Given the description of an element on the screen output the (x, y) to click on. 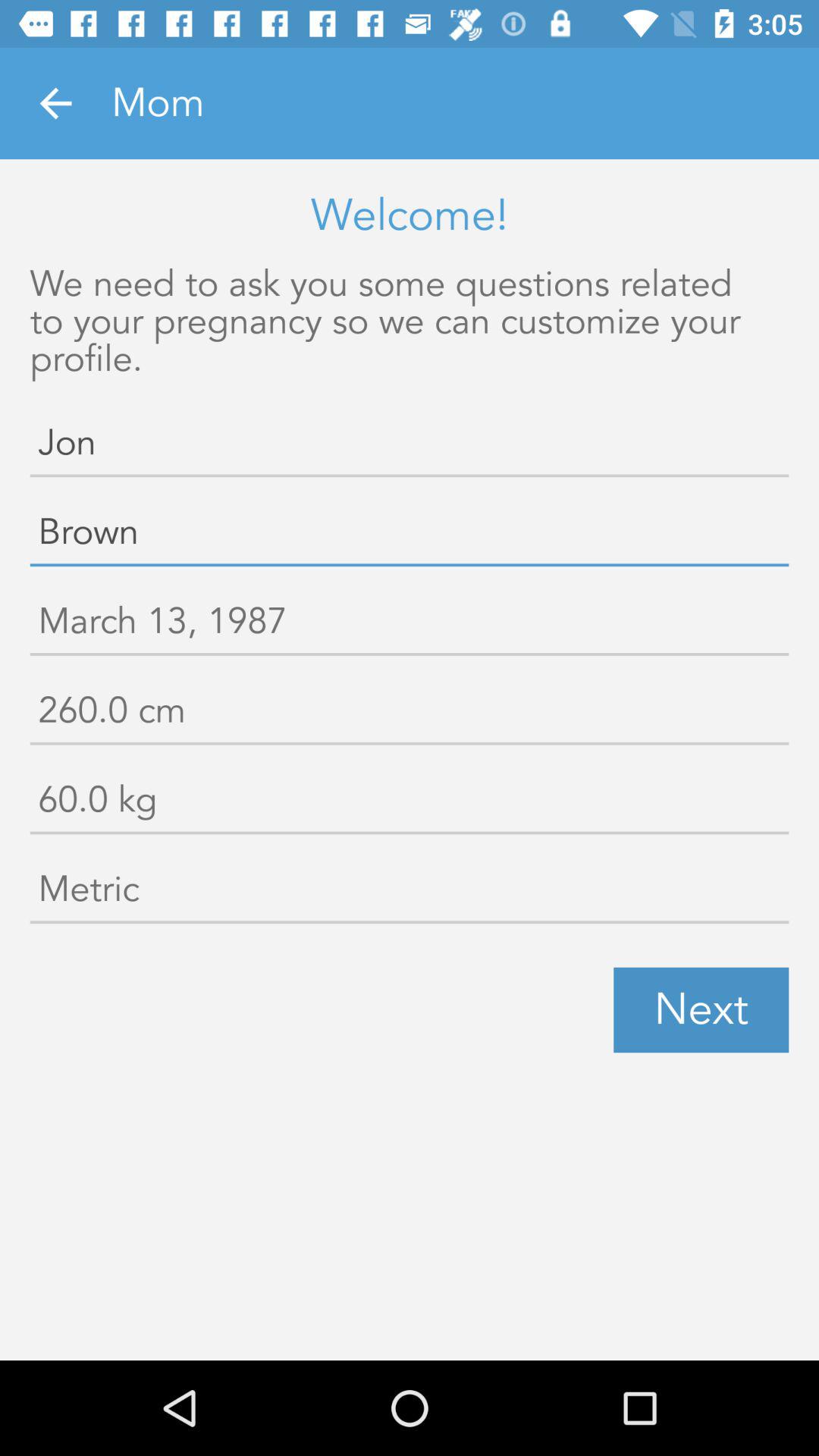
turn on the item below the metric (700, 1009)
